Given the description of an element on the screen output the (x, y) to click on. 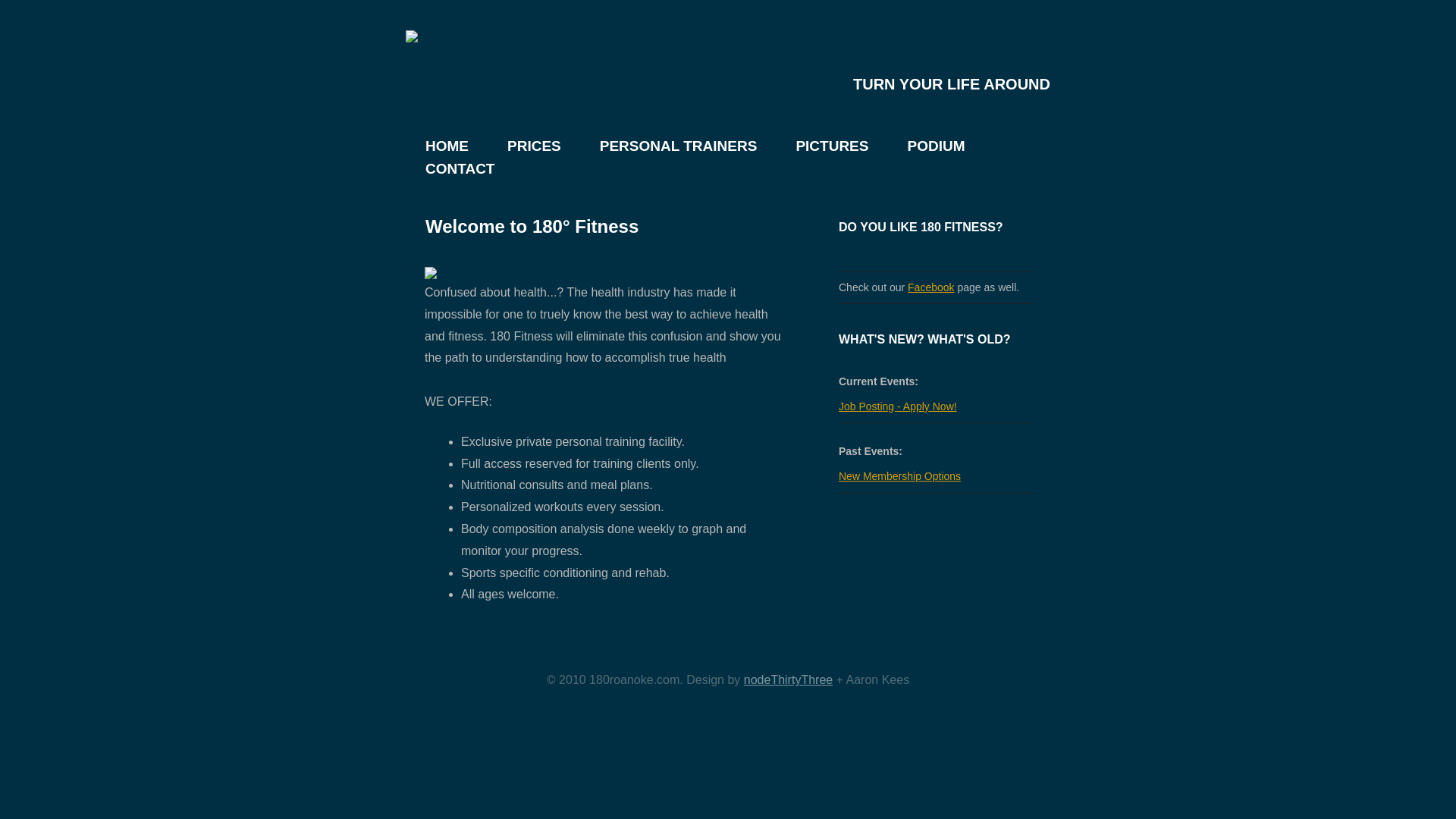
PODIUM Element type: text (916, 145)
nodeThirtyThree Element type: text (787, 679)
PRICES Element type: text (514, 145)
PERSONAL TRAINERS Element type: text (659, 145)
Facebook Element type: text (930, 287)
New Membership Options Element type: text (899, 476)
Job Posting - Apply Now! Element type: text (897, 406)
PICTURES Element type: text (812, 145)
HOME Element type: text (427, 145)
CONTACT Element type: text (440, 168)
